Given the description of an element on the screen output the (x, y) to click on. 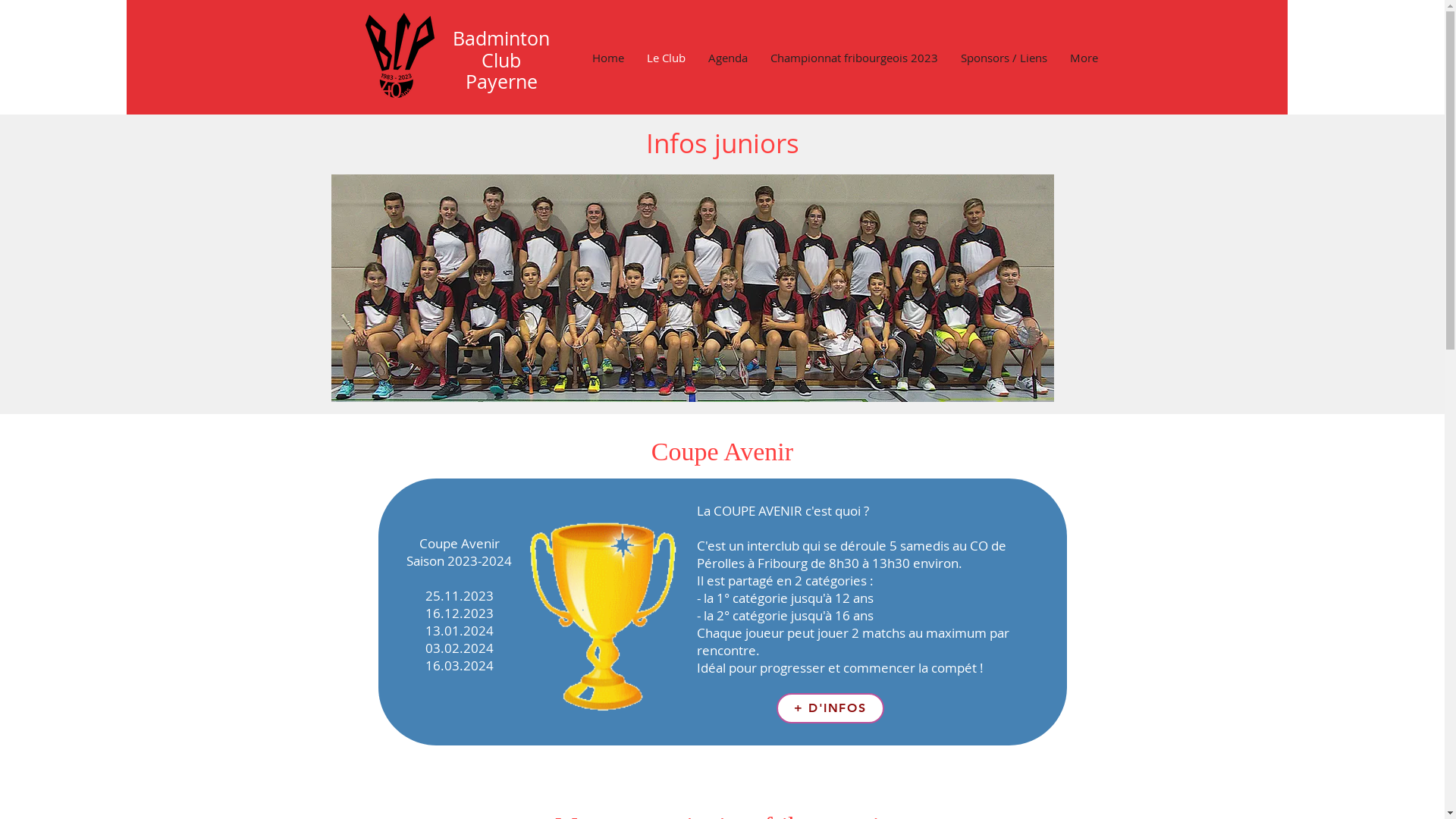
Home Element type: text (607, 57)
Sponsors / Liens Element type: text (1003, 57)
Agenda Element type: text (727, 57)
+ D'INFOS Element type: text (830, 708)
Le Club Element type: text (665, 57)
Championnat fribourgeois 2023 Element type: text (853, 57)
Badminton Element type: text (500, 37)
Club
Payerne Element type: text (501, 70)
